Given the description of an element on the screen output the (x, y) to click on. 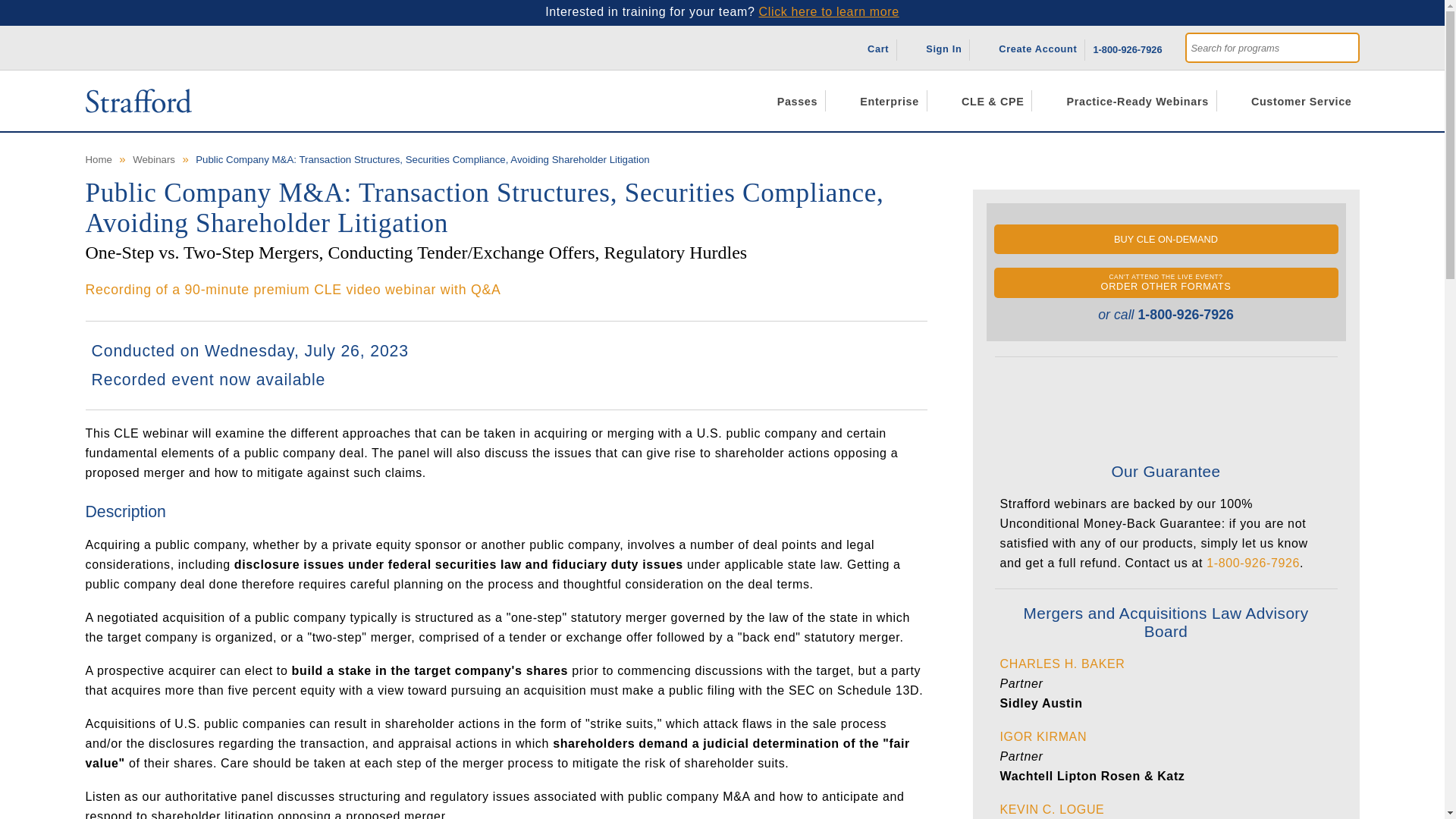
Click here to learn more (828, 11)
1-800-926-7926 (1126, 47)
Sign In (936, 46)
Passes (788, 100)
Create Account (1030, 46)
Cart (870, 46)
Enterprise (880, 100)
Buy CLE On-Demand (1165, 238)
